Given the description of an element on the screen output the (x, y) to click on. 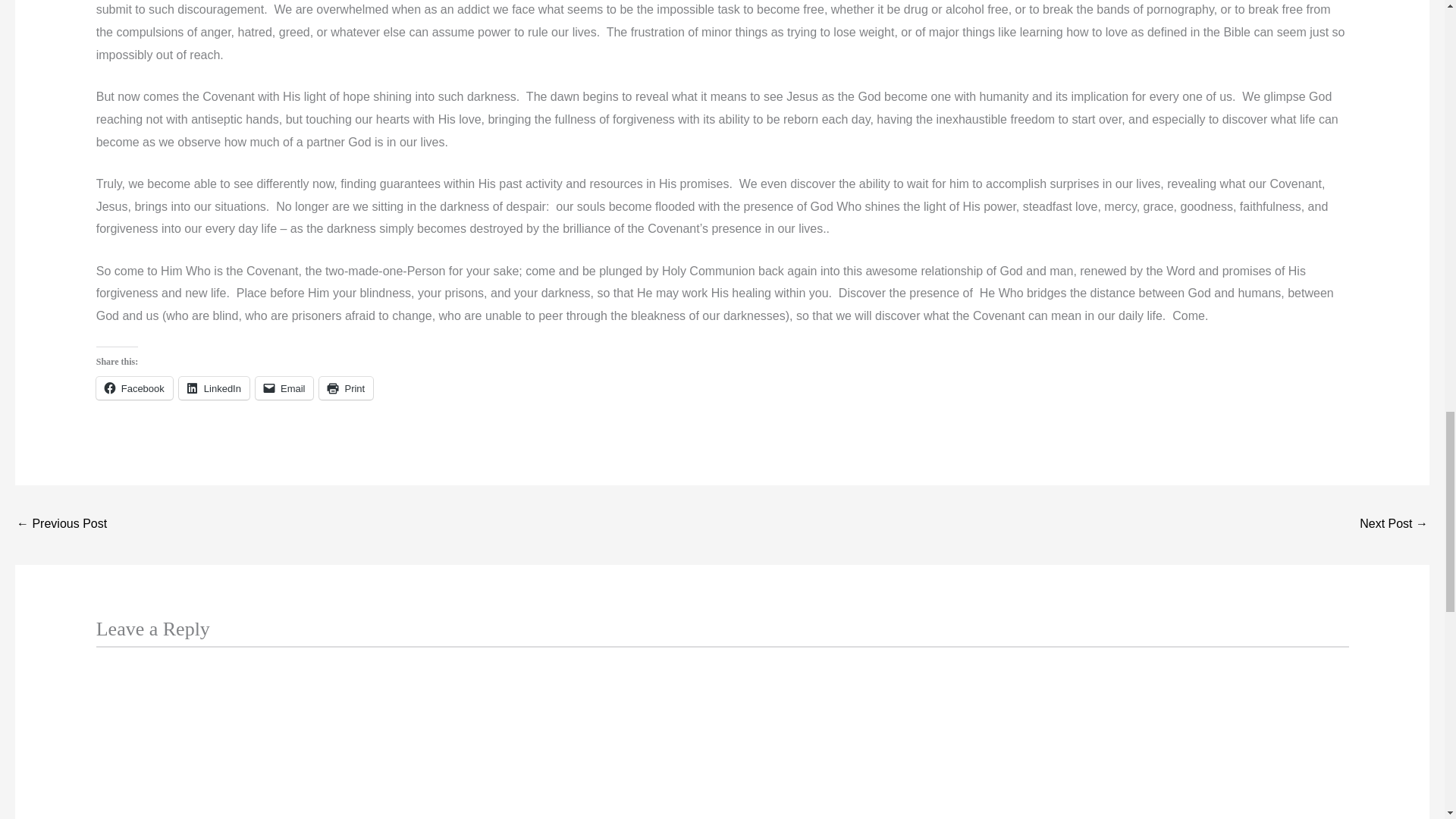
Click to print (345, 387)
Fallen Magi and Us (61, 524)
Click to share on LinkedIn (213, 387)
I have labored in vain, for nothing and vanity (1393, 524)
Click to email a link to a friend (285, 387)
Click to share on Facebook (134, 387)
